Given the description of an element on the screen output the (x, y) to click on. 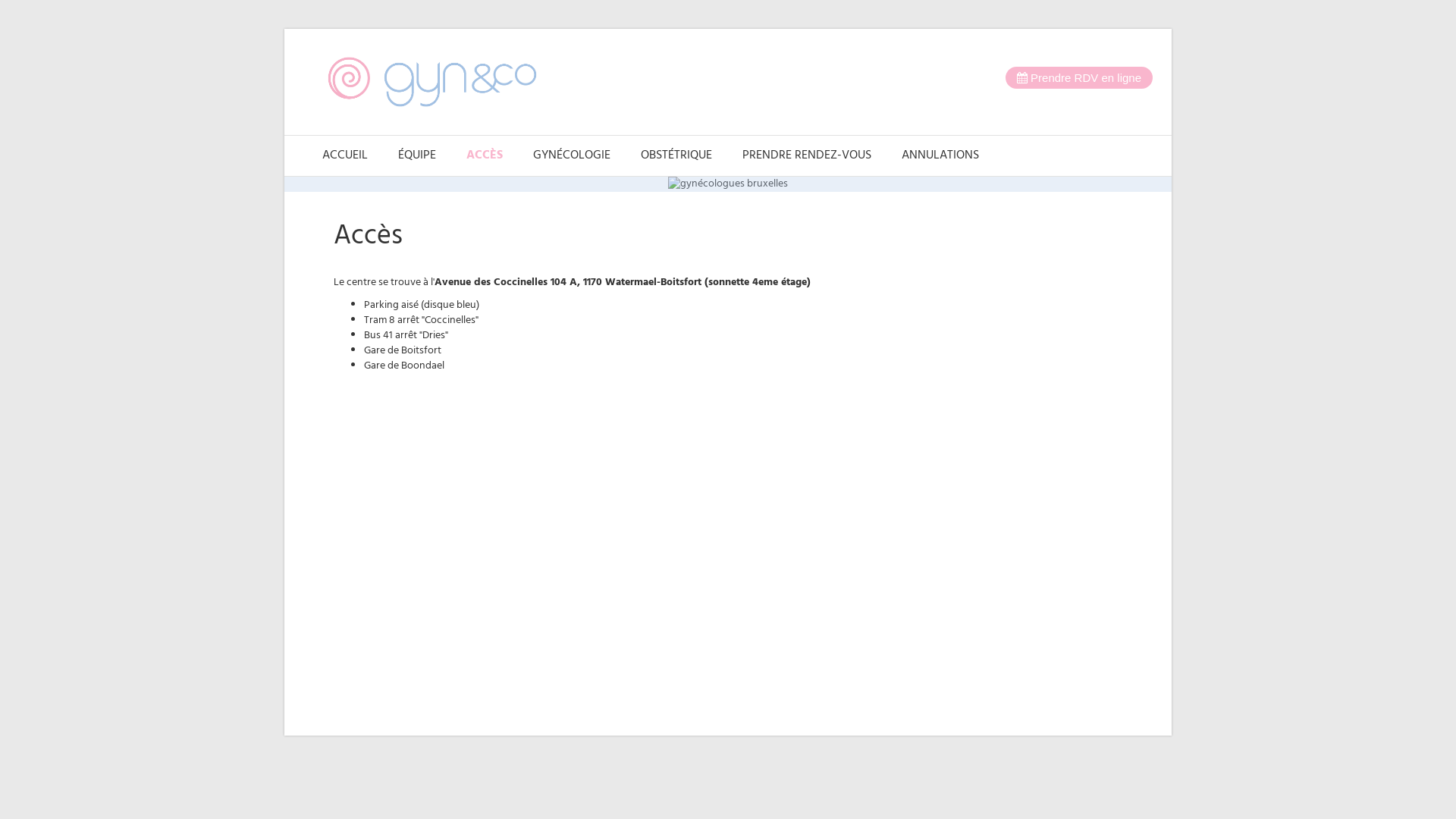
ACCUEIL Element type: text (344, 155)
ANNULATIONS Element type: text (940, 155)
Prendre RDV en ligne Element type: text (1078, 77)
PRENDRE RENDEZ-VOUS Element type: text (806, 155)
